Given the description of an element on the screen output the (x, y) to click on. 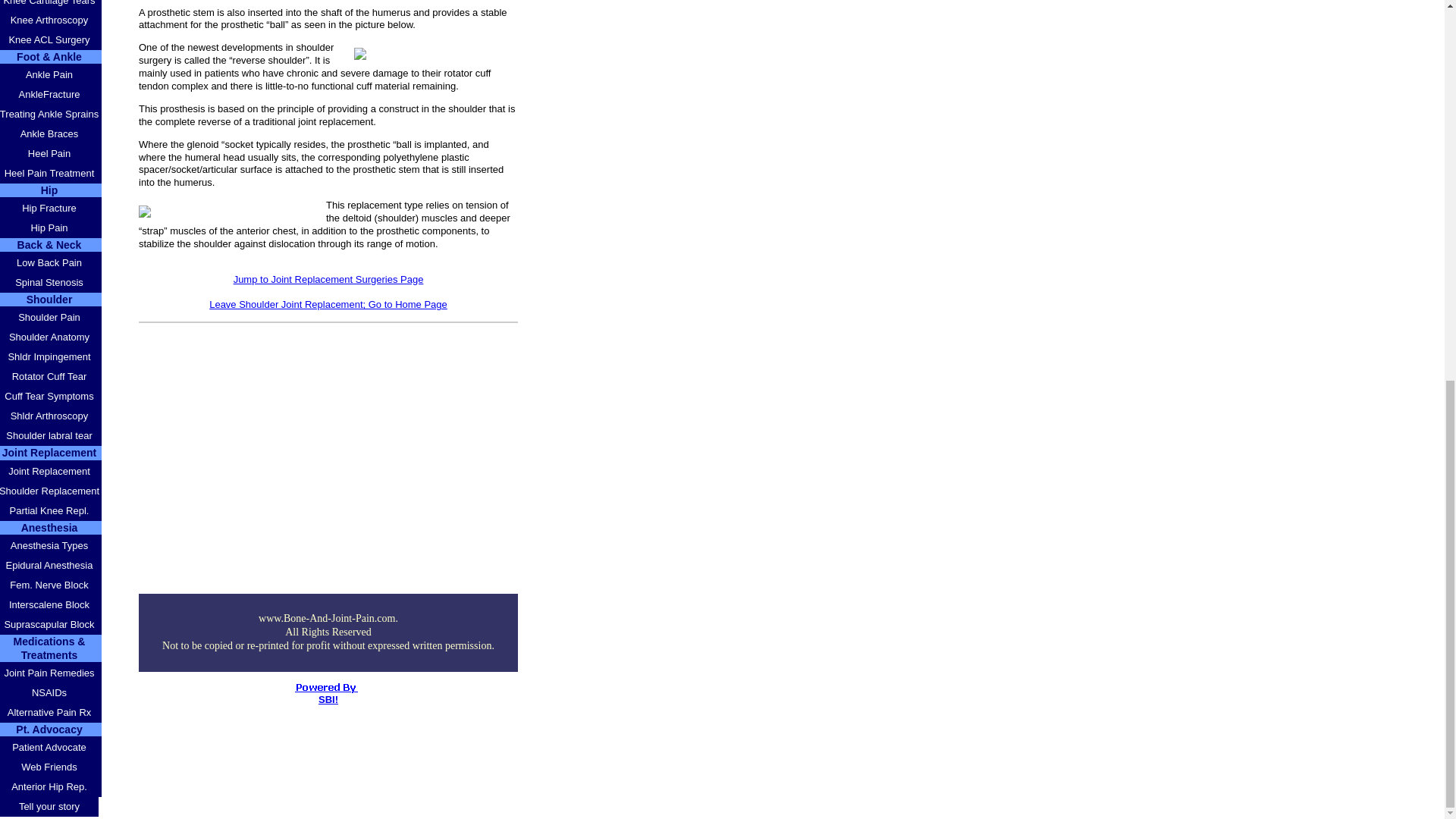
Ankle Pain (50, 75)
Low Back Pain (50, 262)
Knee Cartilage Tears (50, 5)
Shoulder Anatomy (50, 337)
Knee ACL Surgery (50, 39)
Hip Pain (50, 228)
Shoulder Pain (50, 317)
Knee Arthroscopy (50, 20)
Heel Pain Treatment (50, 173)
AnkleFracture (50, 94)
Treating Ankle Sprains (50, 114)
Heel Pain (50, 153)
Ankle Braces (50, 134)
Rotator Cuff Tear (50, 376)
Hip Fracture (50, 208)
